Given the description of an element on the screen output the (x, y) to click on. 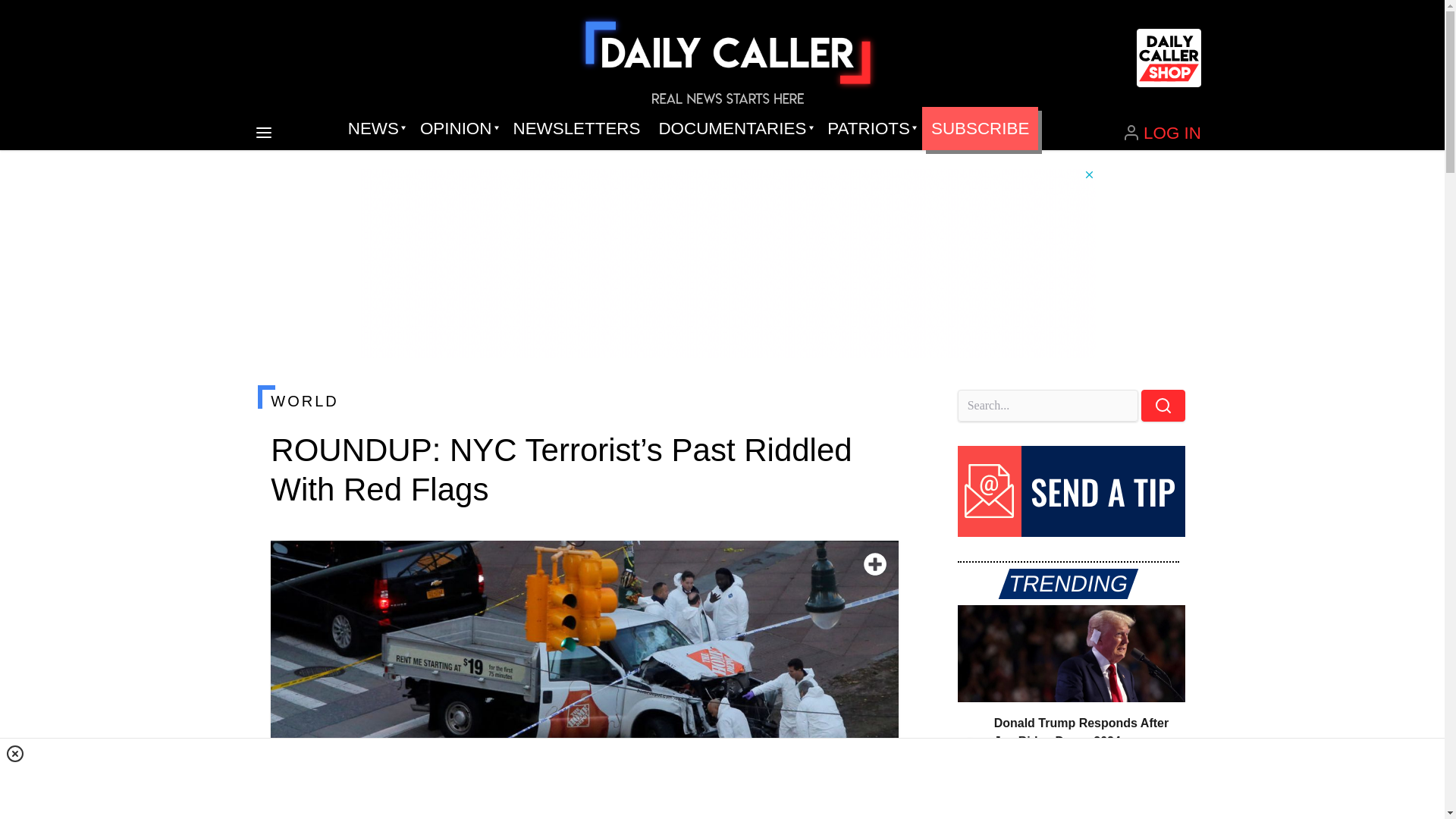
3rd party ad content (722, 778)
WORLD (584, 400)
PATRIOTS (869, 128)
NEWS (374, 128)
SUBSCRIBE (979, 128)
Close window (14, 753)
DOCUMENTARIES (733, 128)
NEWSLETTERS (576, 128)
OPINION (456, 128)
Toggle fullscreen (874, 563)
